Given the description of an element on the screen output the (x, y) to click on. 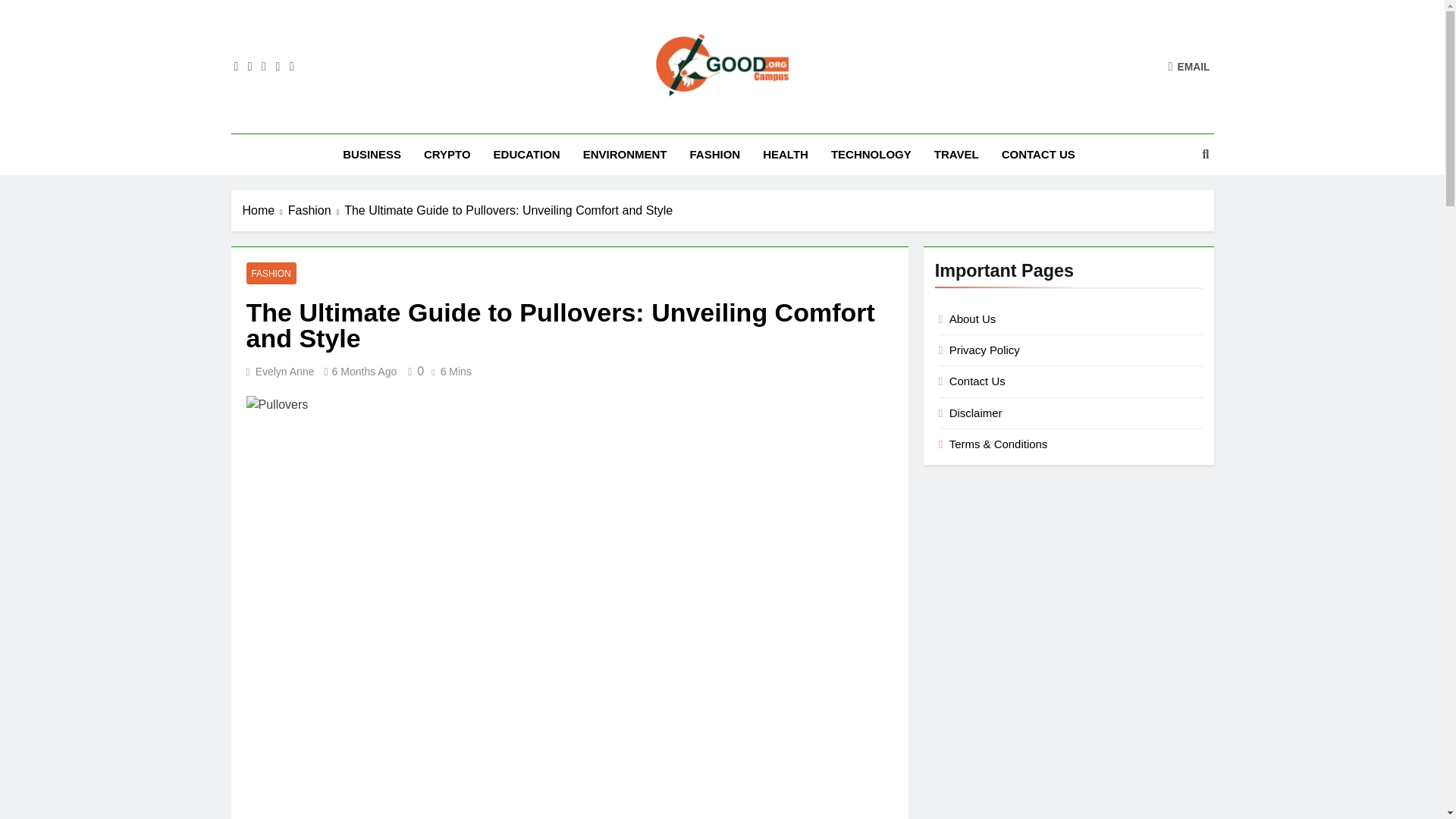
ENVIRONMENT (625, 153)
BUSINESS (371, 153)
FASHION (270, 273)
EDUCATION (526, 153)
HEALTH (785, 153)
CONTACT US (1038, 153)
0 (413, 369)
EMAIL (1189, 65)
TRAVEL (956, 153)
Fashion (315, 210)
